Given the description of an element on the screen output the (x, y) to click on. 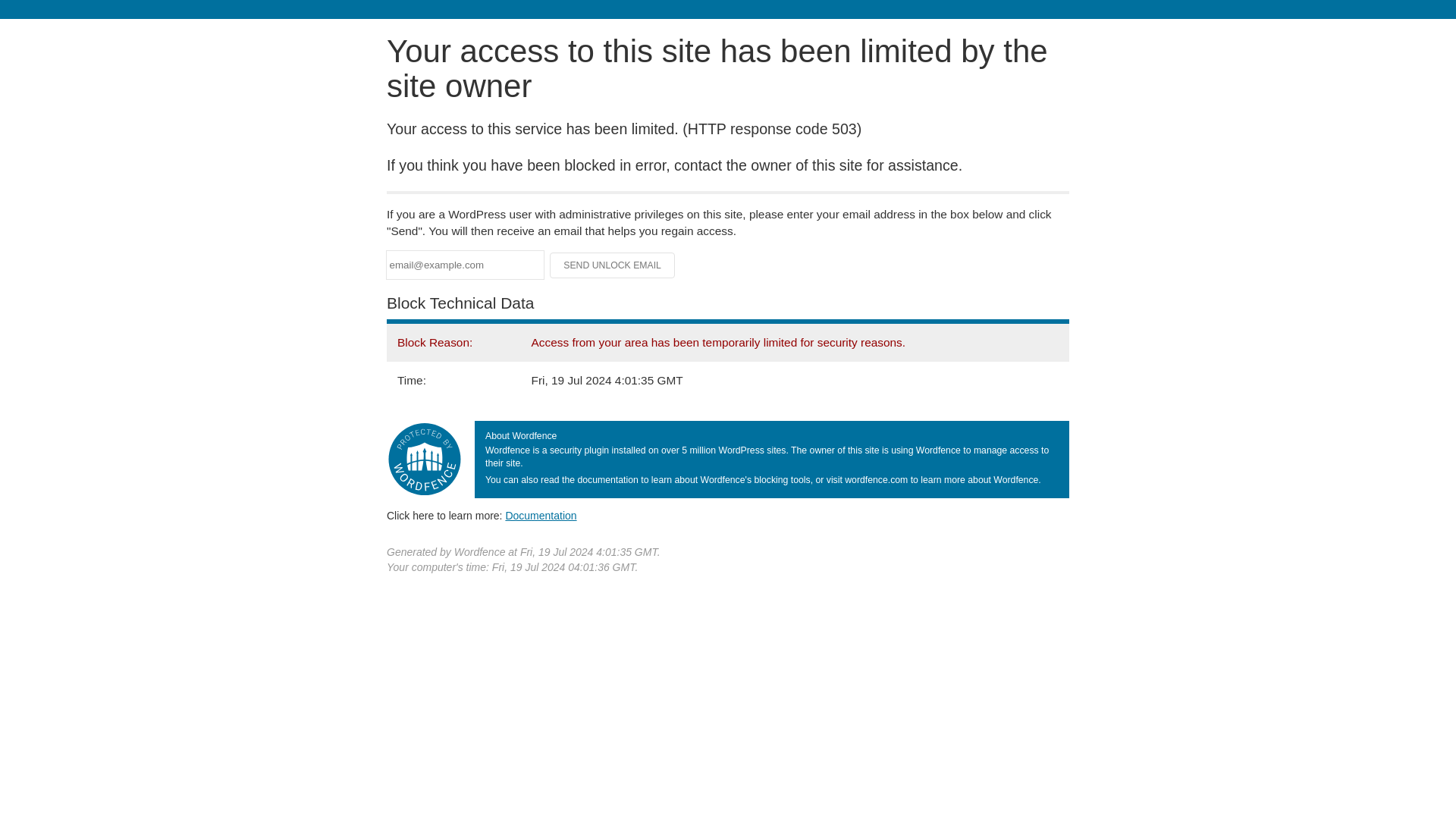
Documentation (540, 515)
Send Unlock Email (612, 265)
Send Unlock Email (612, 265)
